Given the description of an element on the screen output the (x, y) to click on. 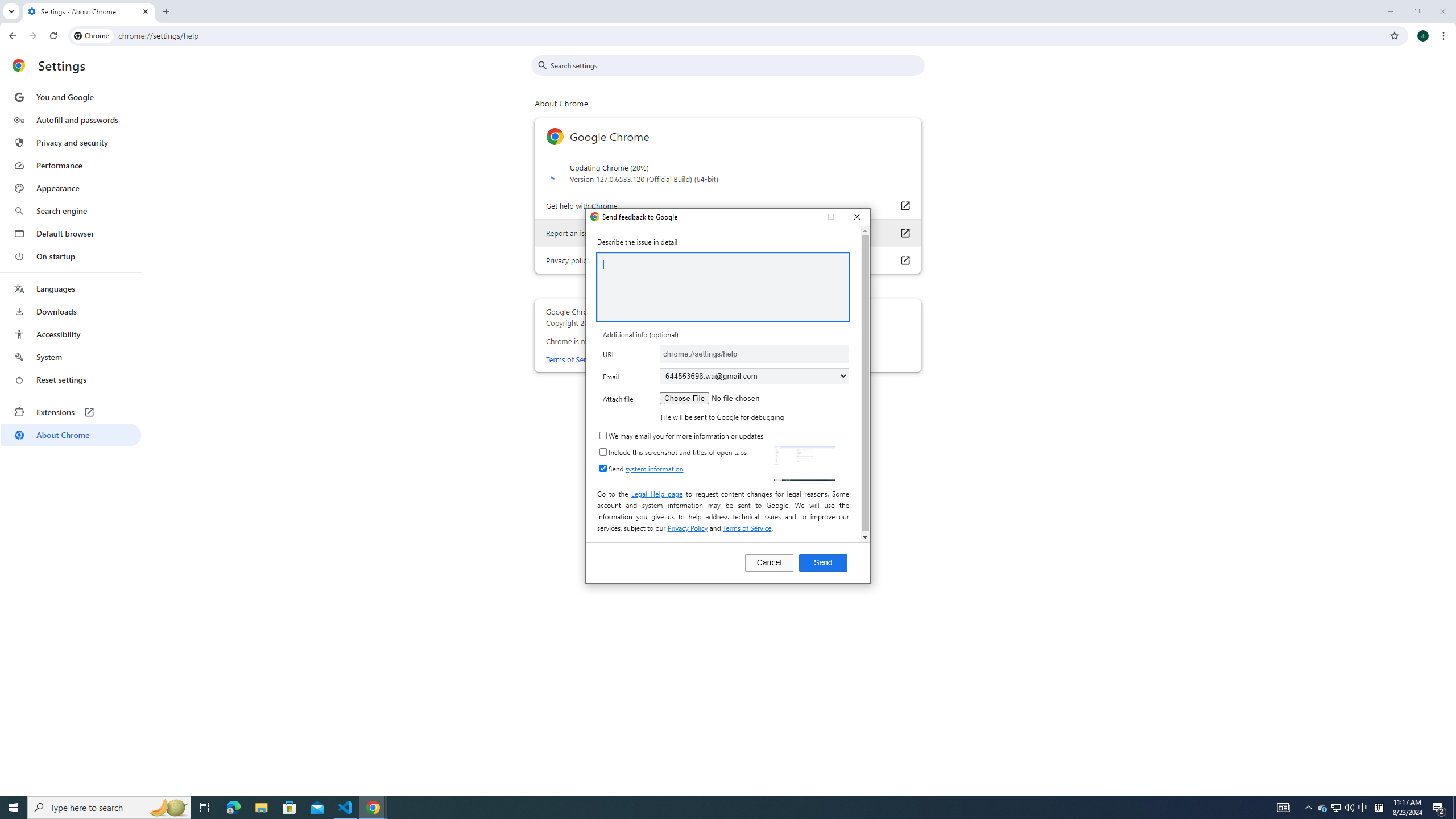
Type here to search (108, 807)
Privacy Policy (686, 527)
AutomationID: menu (71, 265)
Screenshot of programs that are currently on the screen (804, 462)
Visual Studio Code - 1 running window (345, 807)
Google Chrome - 2 running windows (373, 807)
Appearance (70, 187)
